Given the description of an element on the screen output the (x, y) to click on. 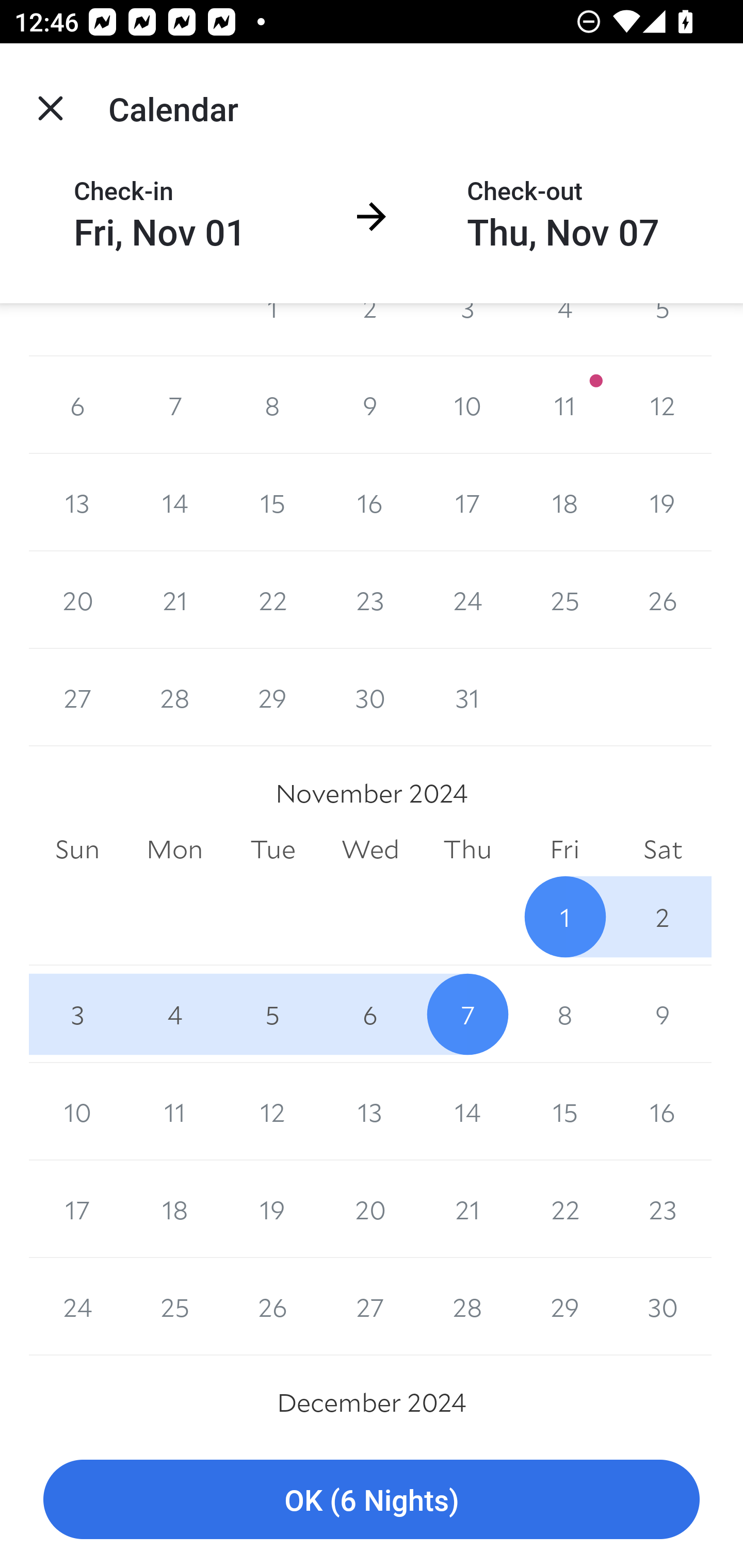
6 6 October 2024 (77, 404)
7 7 October 2024 (174, 404)
8 8 October 2024 (272, 404)
9 9 October 2024 (370, 404)
10 10 October 2024 (467, 404)
11 11 October 2024 (564, 404)
12 12 October 2024 (662, 404)
13 13 October 2024 (77, 502)
14 14 October 2024 (174, 502)
15 15 October 2024 (272, 502)
16 16 October 2024 (370, 502)
17 17 October 2024 (467, 502)
18 18 October 2024 (564, 502)
19 19 October 2024 (662, 502)
20 20 October 2024 (77, 600)
21 21 October 2024 (174, 600)
22 22 October 2024 (272, 600)
23 23 October 2024 (370, 600)
24 24 October 2024 (467, 600)
25 25 October 2024 (564, 600)
26 26 October 2024 (662, 600)
27 27 October 2024 (77, 697)
28 28 October 2024 (174, 697)
29 29 October 2024 (272, 697)
30 30 October 2024 (370, 697)
31 31 October 2024 (467, 697)
Sun (77, 849)
Mon (174, 849)
Tue (272, 849)
Wed (370, 849)
Thu (467, 849)
Fri (564, 849)
Sat (662, 849)
1 1 November 2024 (564, 916)
2 2 November 2024 (662, 916)
3 3 November 2024 (77, 1014)
4 4 November 2024 (174, 1014)
5 5 November 2024 (272, 1014)
6 6 November 2024 (370, 1014)
7 7 November 2024 (467, 1014)
8 8 November 2024 (564, 1014)
9 9 November 2024 (662, 1014)
10 10 November 2024 (77, 1111)
11 11 November 2024 (174, 1111)
12 12 November 2024 (272, 1111)
13 13 November 2024 (370, 1111)
14 14 November 2024 (467, 1111)
15 15 November 2024 (564, 1111)
16 16 November 2024 (662, 1111)
17 17 November 2024 (77, 1208)
18 18 November 2024 (174, 1208)
19 19 November 2024 (272, 1208)
20 20 November 2024 (370, 1208)
21 21 November 2024 (467, 1208)
22 22 November 2024 (564, 1208)
23 23 November 2024 (662, 1208)
24 24 November 2024 (77, 1305)
25 25 November 2024 (174, 1305)
26 26 November 2024 (272, 1305)
27 27 November 2024 (370, 1305)
28 28 November 2024 (467, 1305)
29 29 November 2024 (564, 1305)
30 30 November 2024 (662, 1305)
OK (6 Nights) (371, 1499)
